Given the description of an element on the screen output the (x, y) to click on. 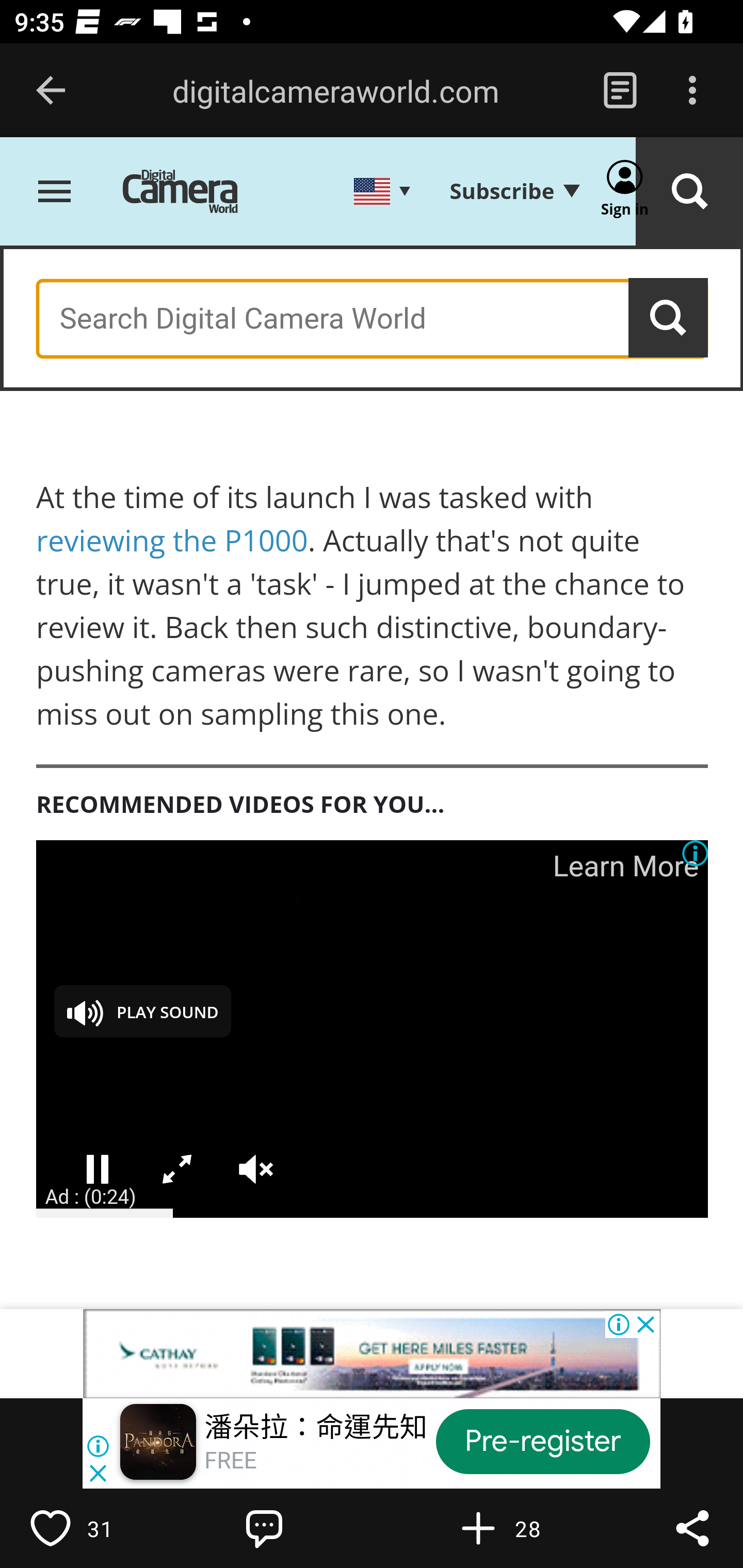
Back (50, 90)
Reader View (619, 90)
Options (692, 90)
Open menu (54, 192)
Digital Camera World (194, 192)
Sign in (625, 192)
Search (689, 192)
Subscribe (514, 191)
Search (668, 318)
reviewing the P1000 (172, 540)
icon_abg (696, 853)
Learn More (625, 865)
PLAY SOUND (142, 1011)
Pause (97, 1169)
Fullscreen (177, 1169)
Volume (256, 1169)
Ad : (0:24) (91, 1196)
潘朵拉：命運先知 (316, 1428)
Pre-register (542, 1441)
FREE (230, 1461)
Like 31 (93, 1528)
Write a comment… (307, 1528)
Flip into Magazine 28 (521, 1528)
Share (692, 1528)
